Given the description of an element on the screen output the (x, y) to click on. 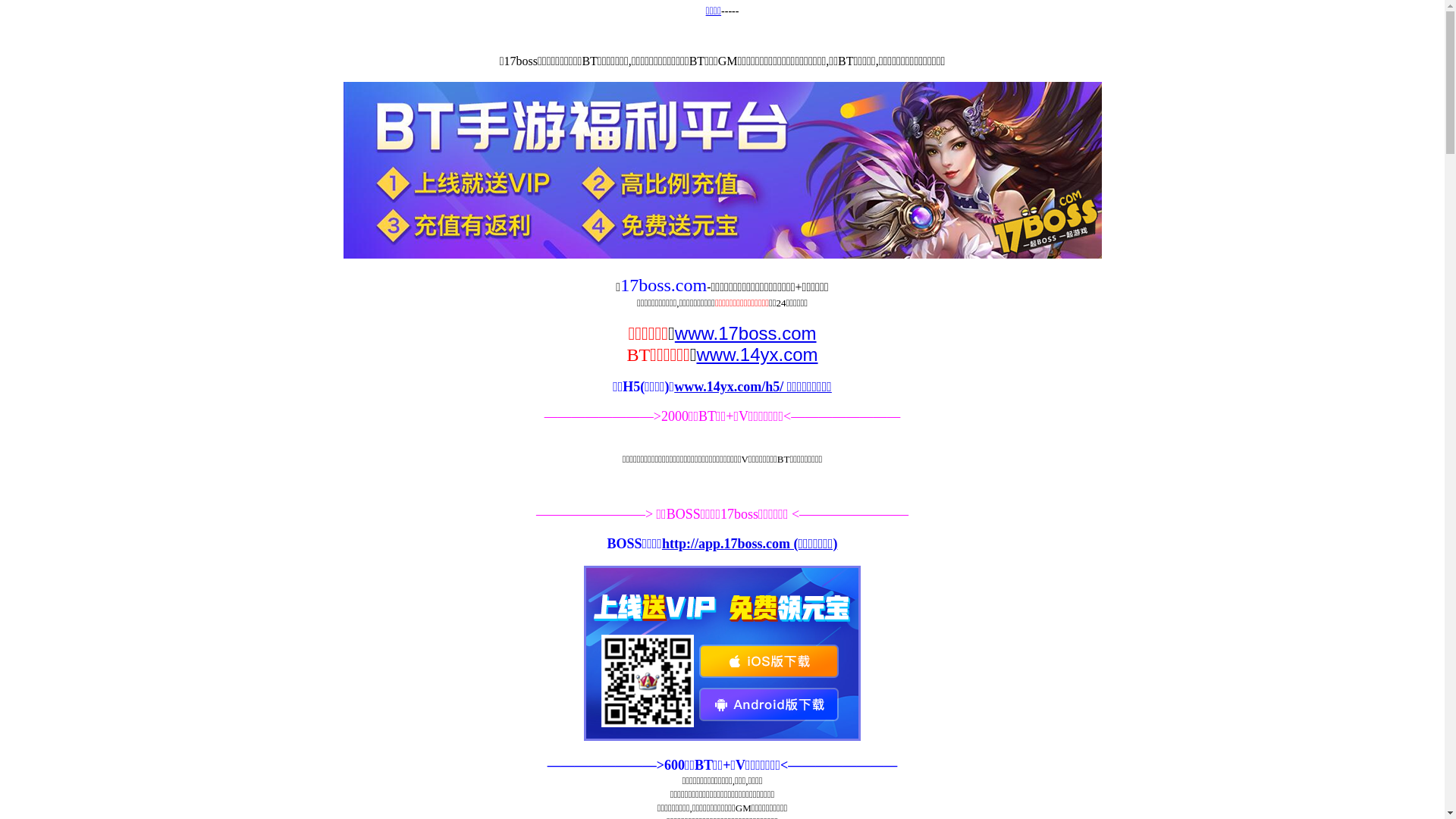
www.17boss.com Element type: text (745, 333)
www.14yx.com Element type: text (756, 354)
